Given the description of an element on the screen output the (x, y) to click on. 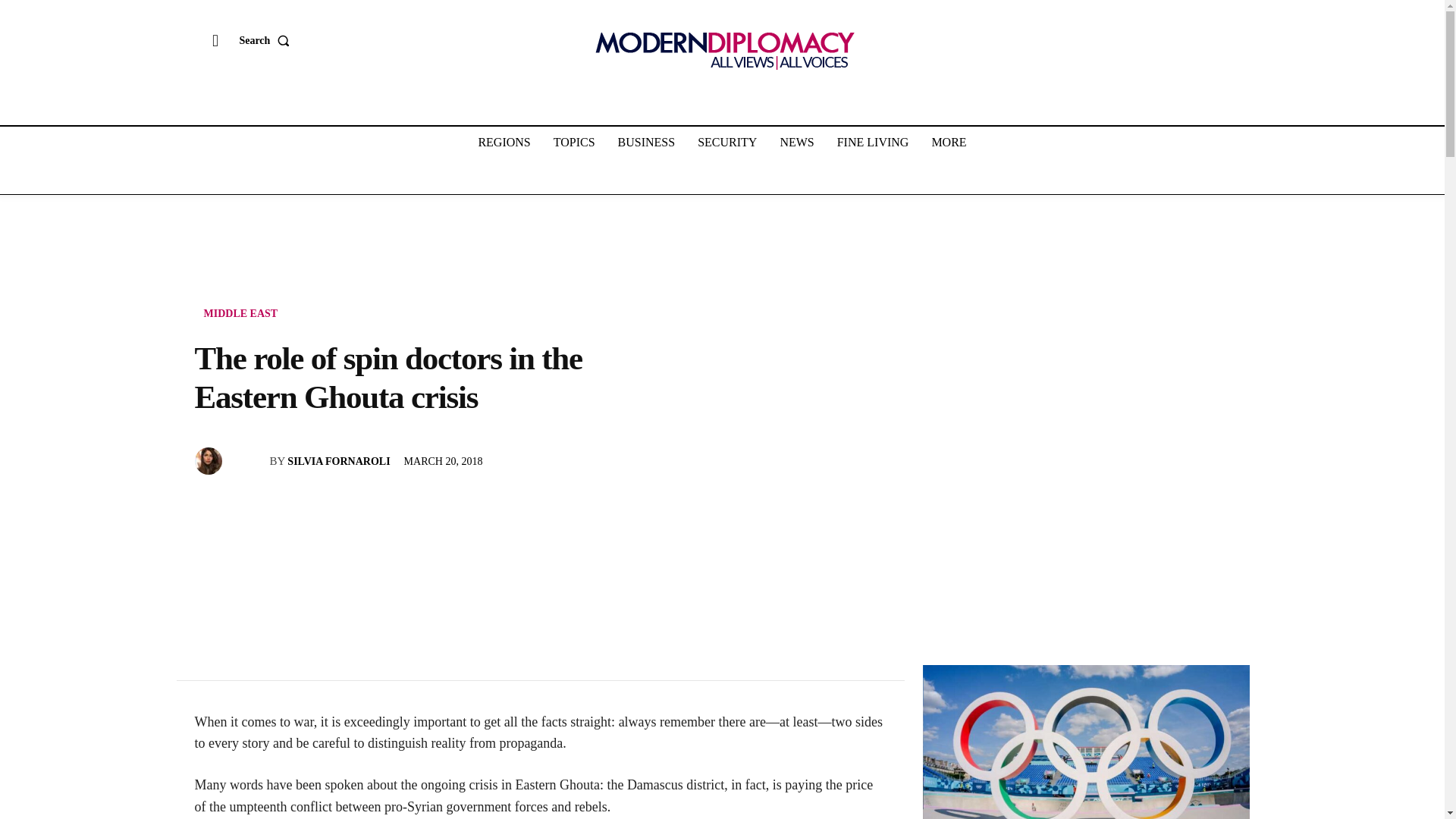
Silvia Fornaroli (209, 461)
